Given the description of an element on the screen output the (x, y) to click on. 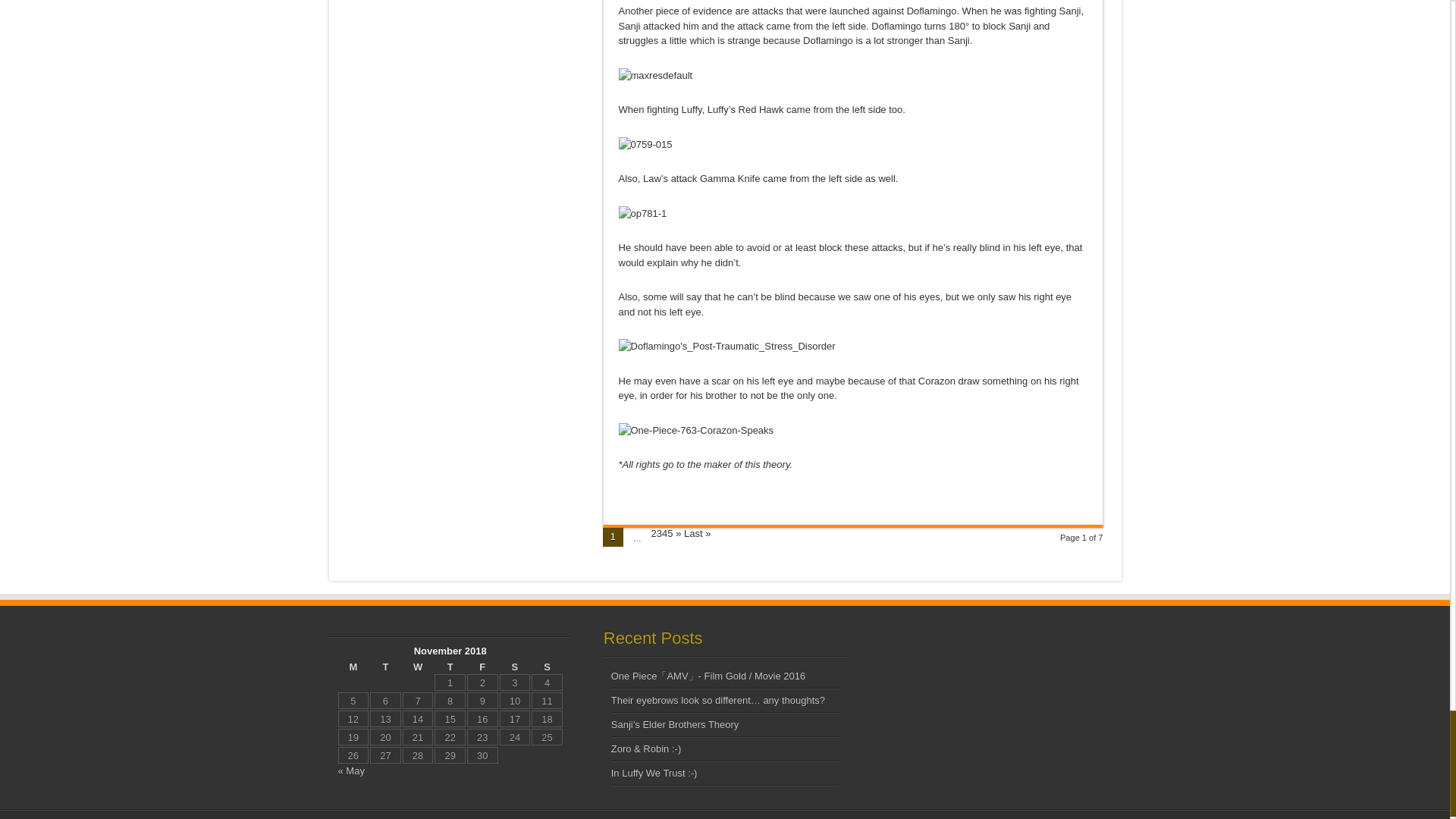
Sunday (546, 666)
Friday (482, 666)
Tuesday (385, 666)
Thursday (449, 666)
Wednesday (418, 666)
Monday (353, 666)
Saturday (515, 666)
